Given the description of an element on the screen output the (x, y) to click on. 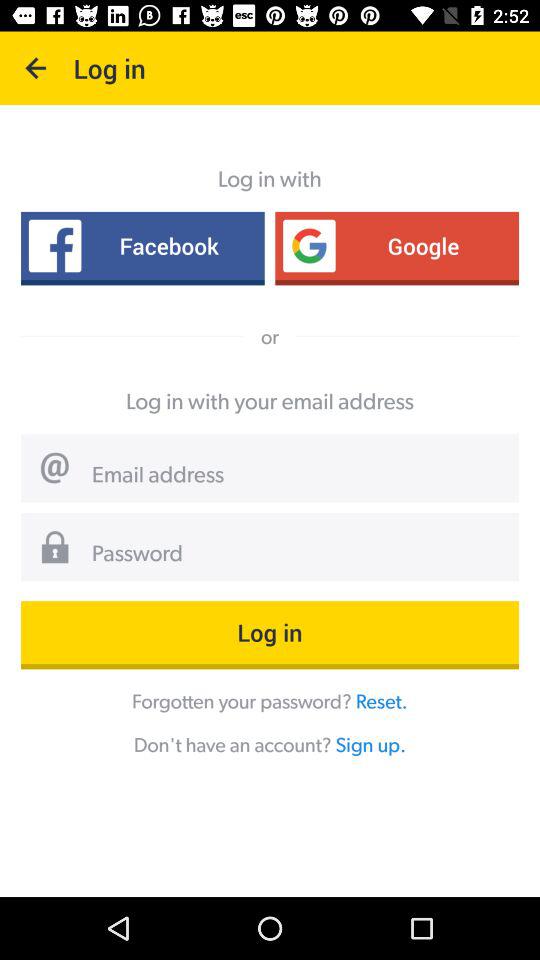
choose the facebook icon (142, 245)
